Given the description of an element on the screen output the (x, y) to click on. 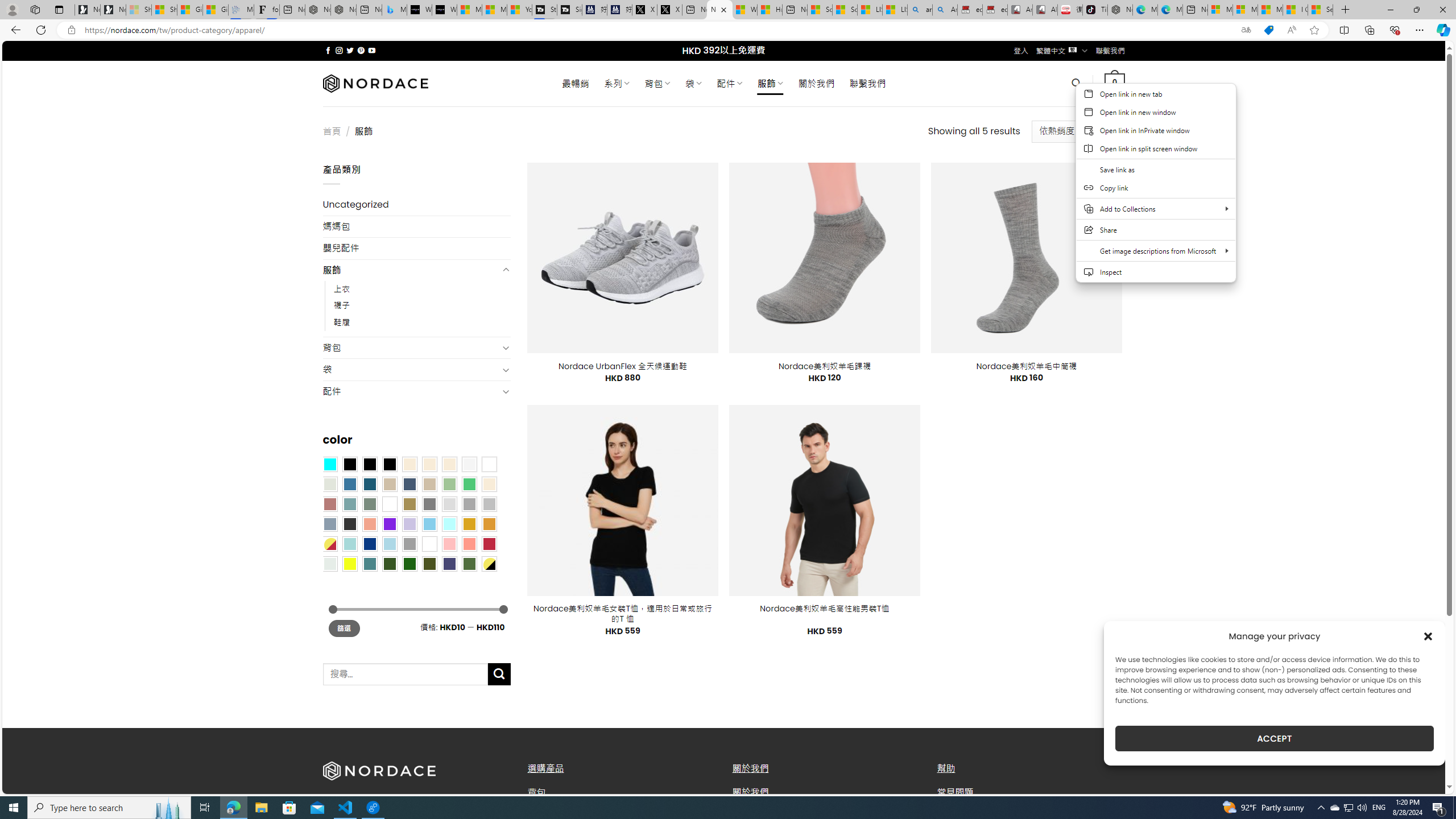
Streaming Coverage | T3 (544, 9)
Huge shark washes ashore at New York City beach | Watch (769, 9)
Add to Collections (1155, 208)
Uncategorized (416, 204)
Open link in new tab (1155, 93)
